Given the description of an element on the screen output the (x, y) to click on. 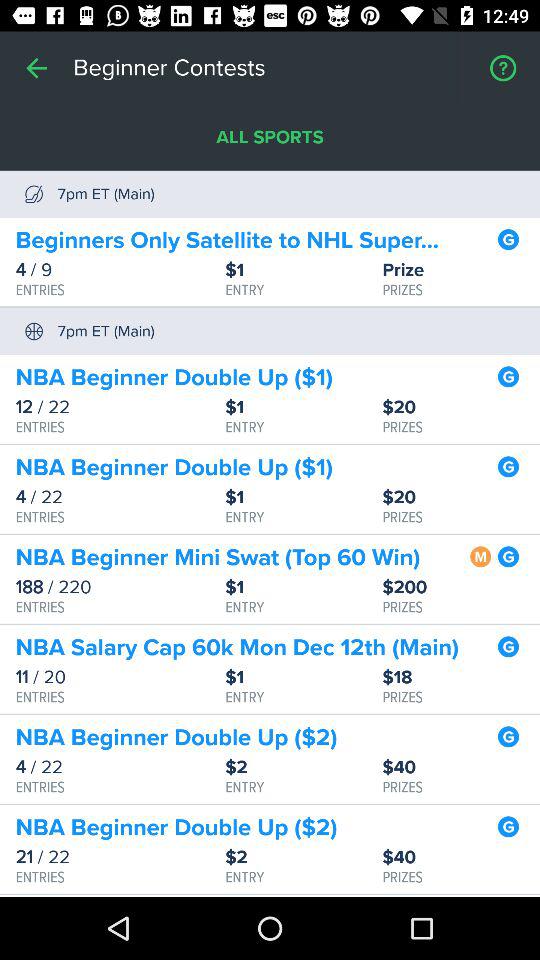
turn off item to the right of $1 icon (461, 677)
